Given the description of an element on the screen output the (x, y) to click on. 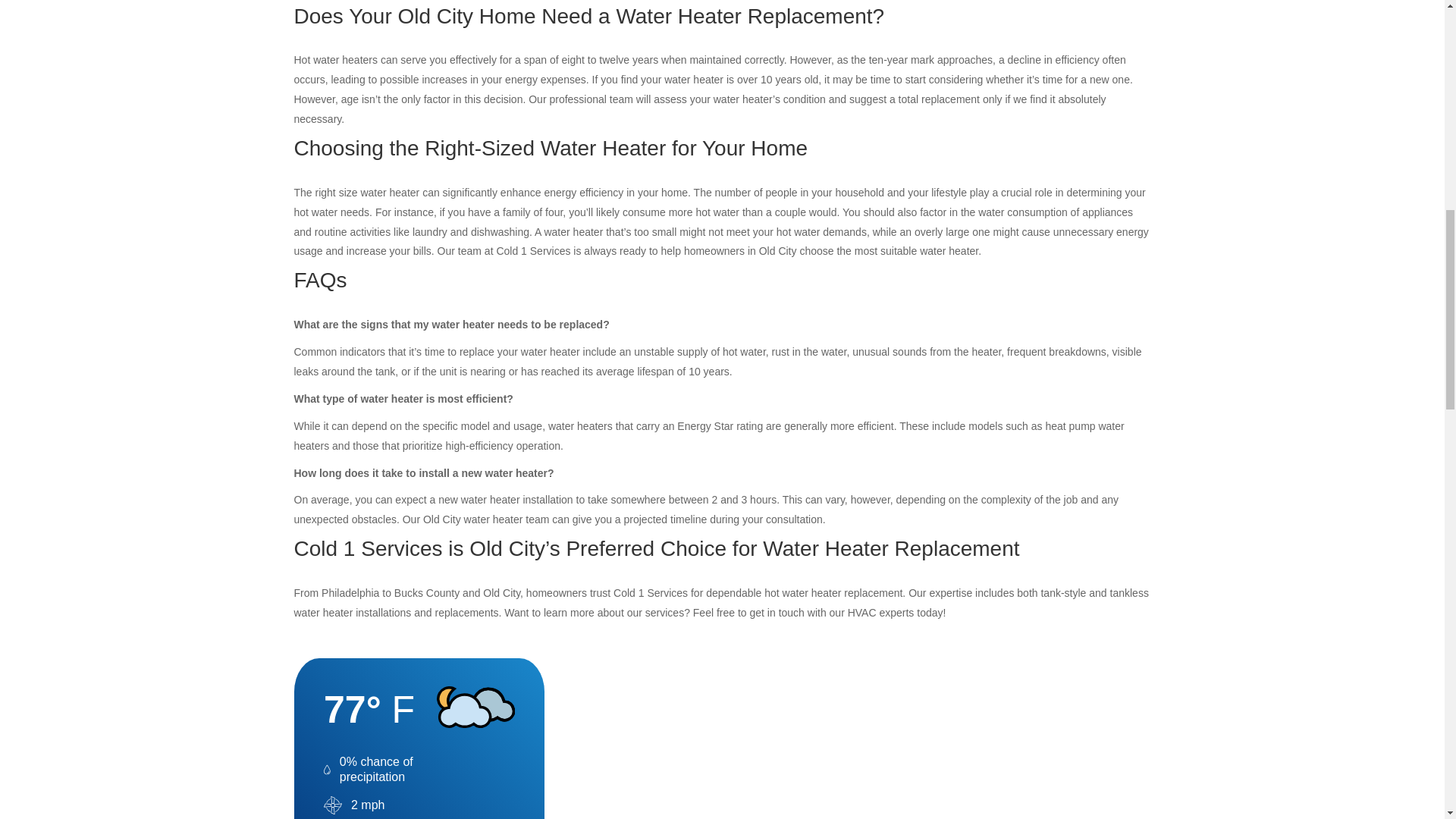
Old City (501, 592)
heater installation (531, 499)
Old City (777, 250)
Cold 1 Services (649, 592)
Cold 1 Services (368, 548)
Philadelphia (349, 592)
Old City (442, 519)
Bucks County (427, 592)
heater installations (367, 612)
Old City (435, 15)
Cold 1 Services (533, 250)
